Given the description of an element on the screen output the (x, y) to click on. 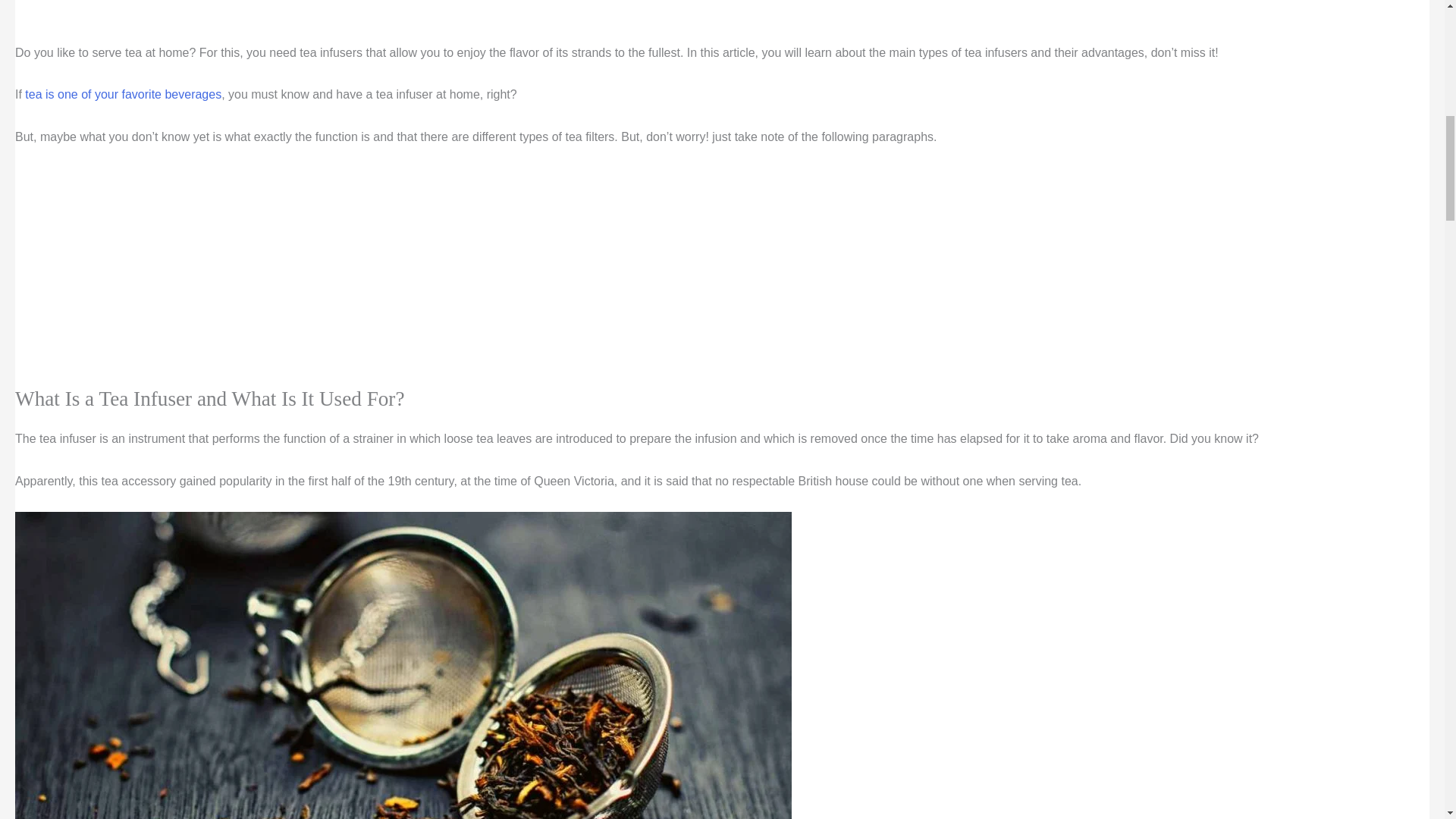
tea is one of your favorite beverages (121, 93)
Advertisement (333, 18)
